Given the description of an element on the screen output the (x, y) to click on. 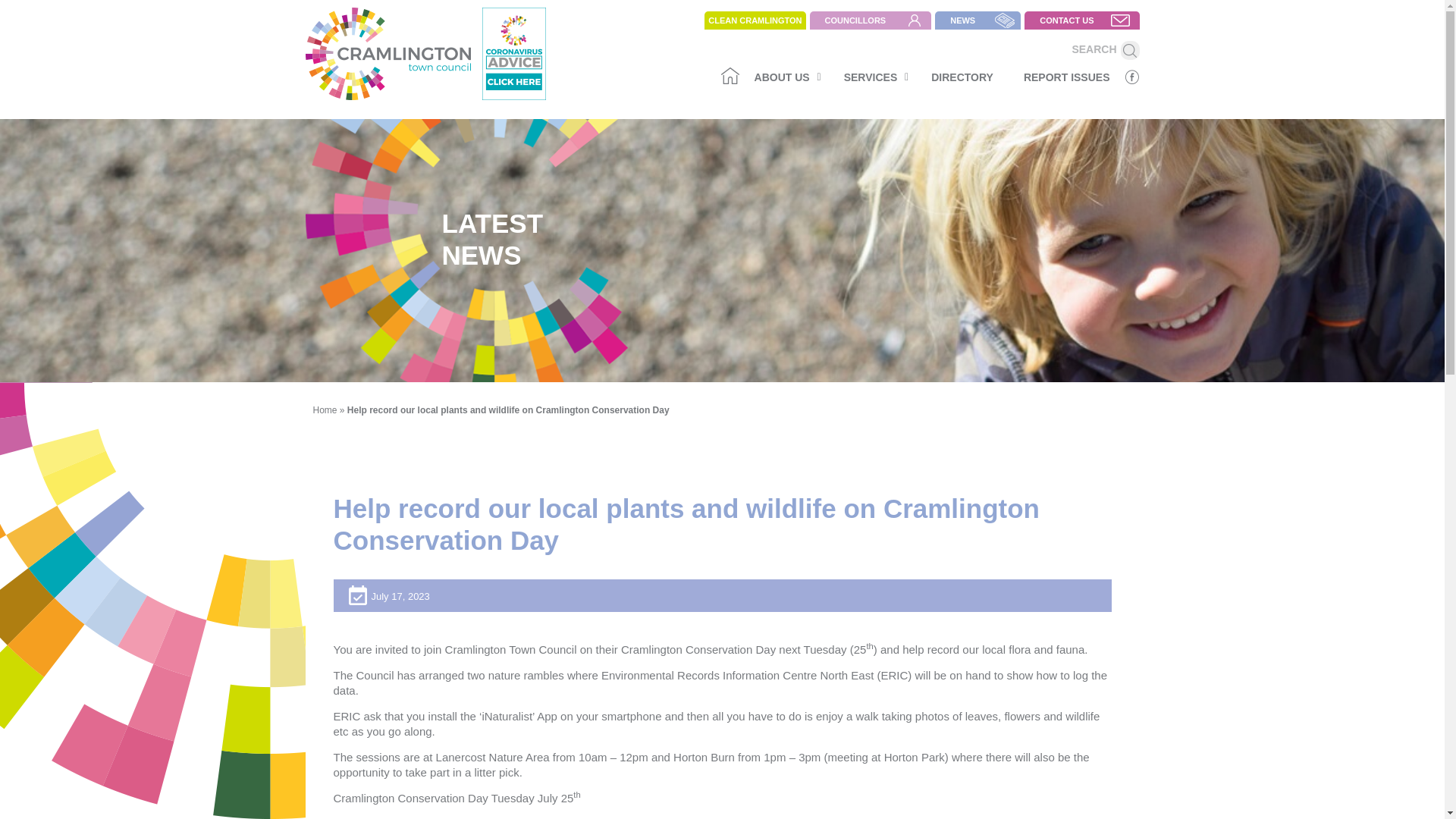
DIRECTORY (962, 77)
Search (1130, 49)
COUNCILLORS (930, 75)
Search (870, 20)
CONTACT US (1130, 49)
Skip to main content (1081, 20)
Search (324, 409)
CLEAN CRAMLINGTON (1130, 49)
SERVICES (754, 20)
NEWS (872, 77)
ABOUT US (977, 20)
REPORT ISSUES (783, 77)
